Given the description of an element on the screen output the (x, y) to click on. 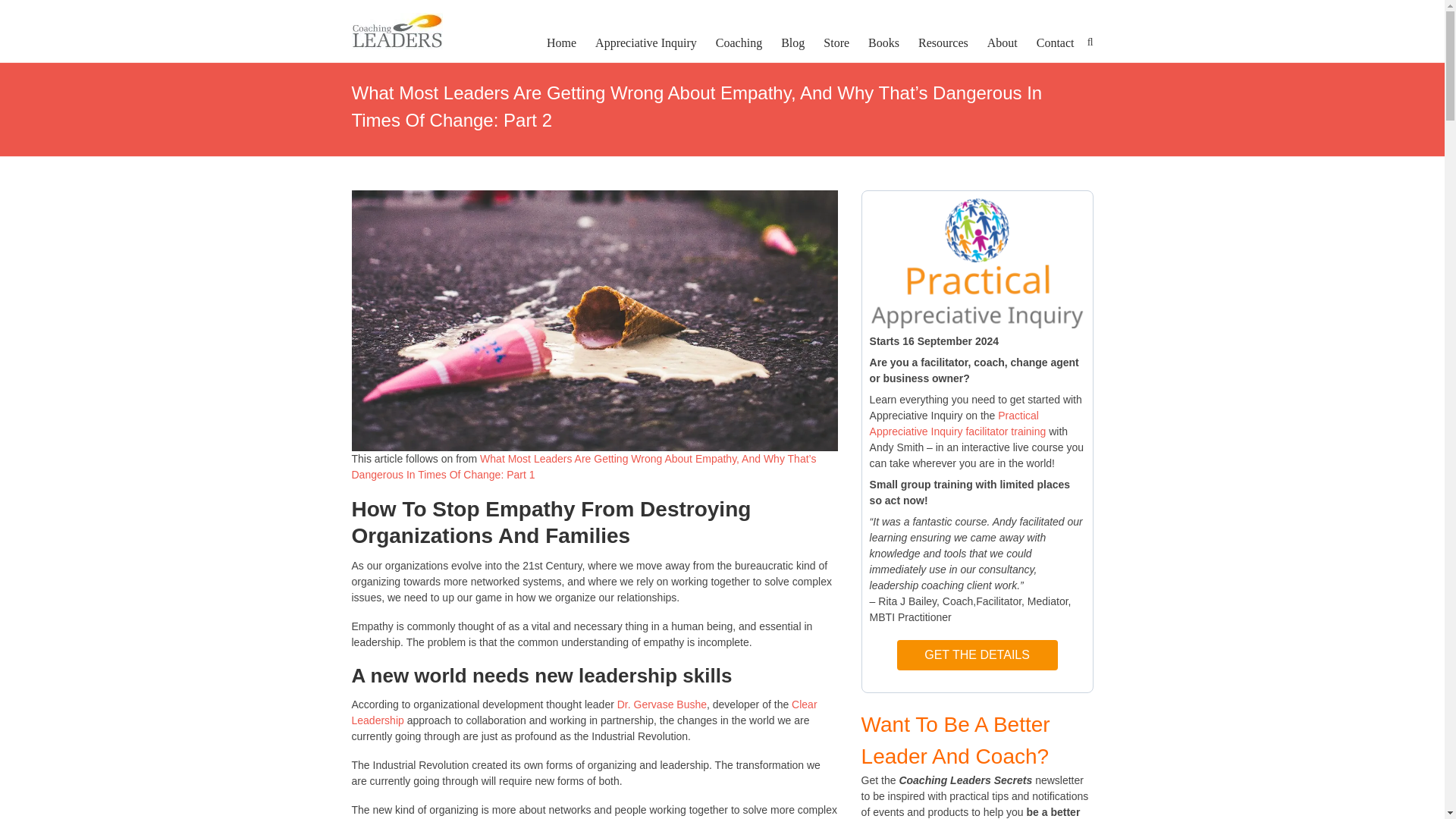
Contact (1055, 43)
Clear Leadership (584, 712)
Coaching Leaders (397, 31)
Dr. Gervase Bushe (661, 704)
Resources (943, 43)
Appreciative Inquiry (646, 43)
Coaching (738, 43)
